Given the description of an element on the screen output the (x, y) to click on. 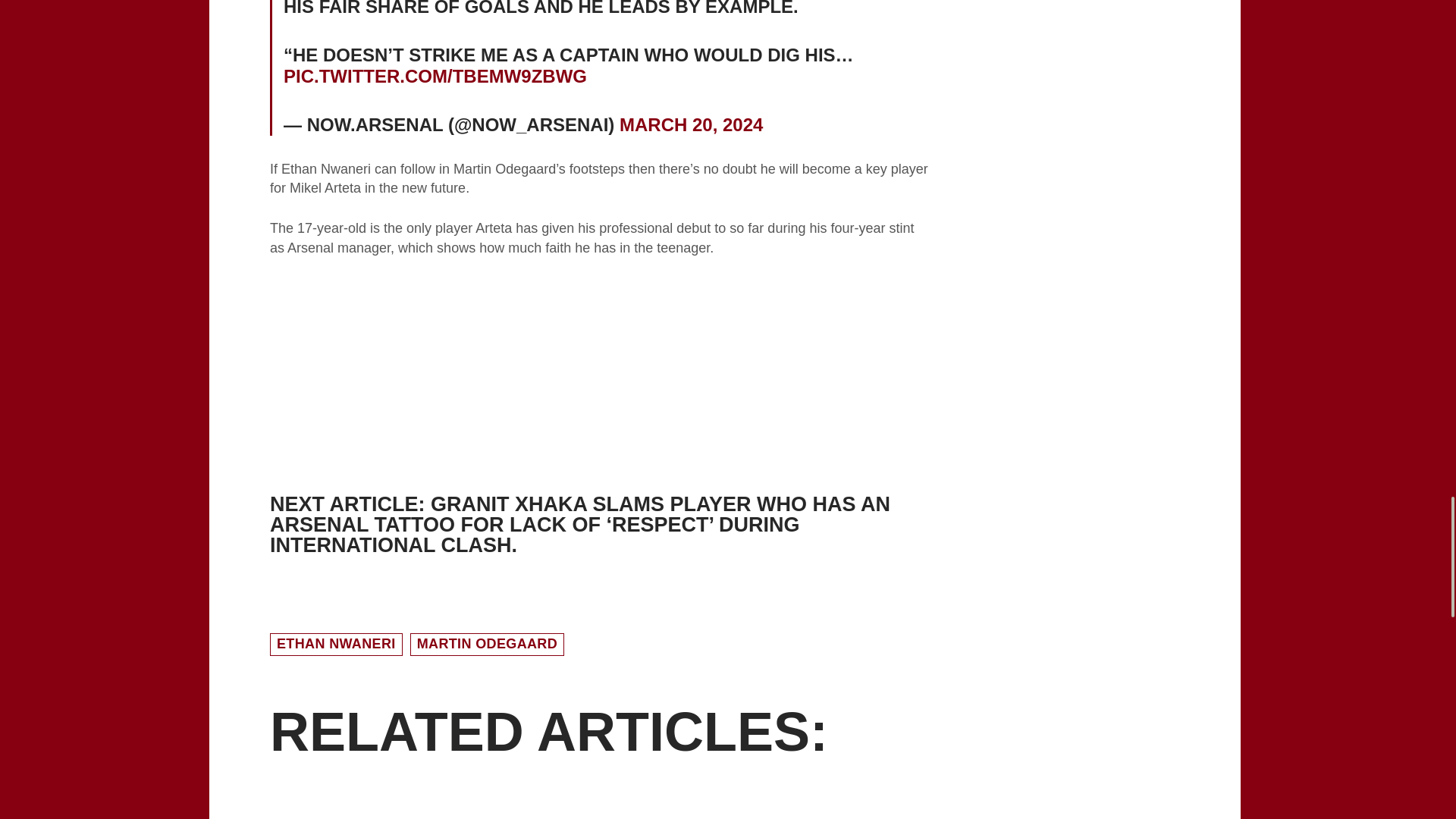
ETHAN NWANERI (336, 644)
MARTIN ODEGAARD (487, 644)
MARCH 20, 2024 (691, 124)
